Given the description of an element on the screen output the (x, y) to click on. 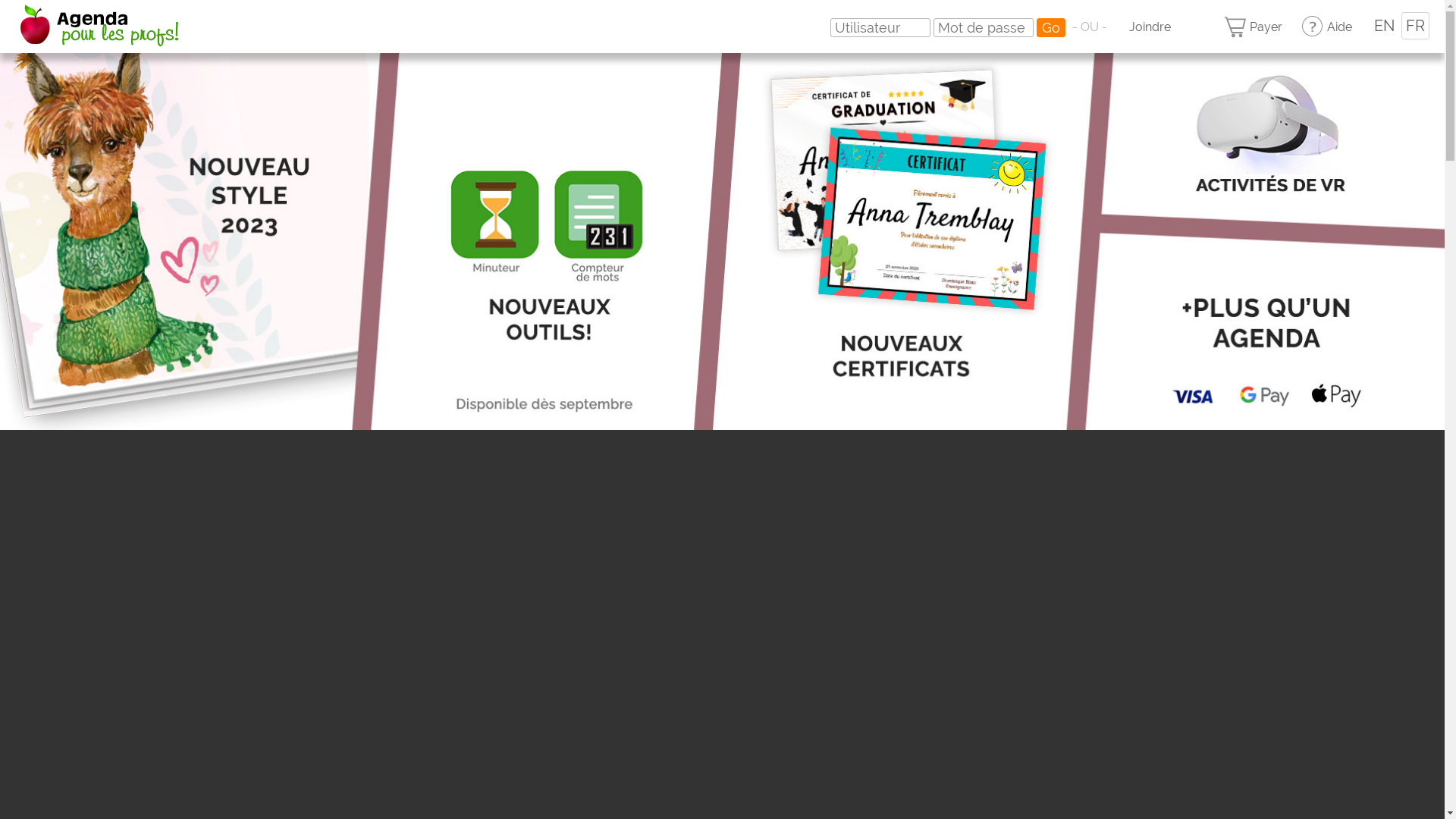
Go Element type: text (1050, 27)
FR Element type: text (1415, 25)
Aide Element type: text (1326, 26)
EN Element type: text (1384, 24)
Joindre Element type: text (1140, 26)
Payer Element type: text (1252, 26)
